Given the description of an element on the screen output the (x, y) to click on. 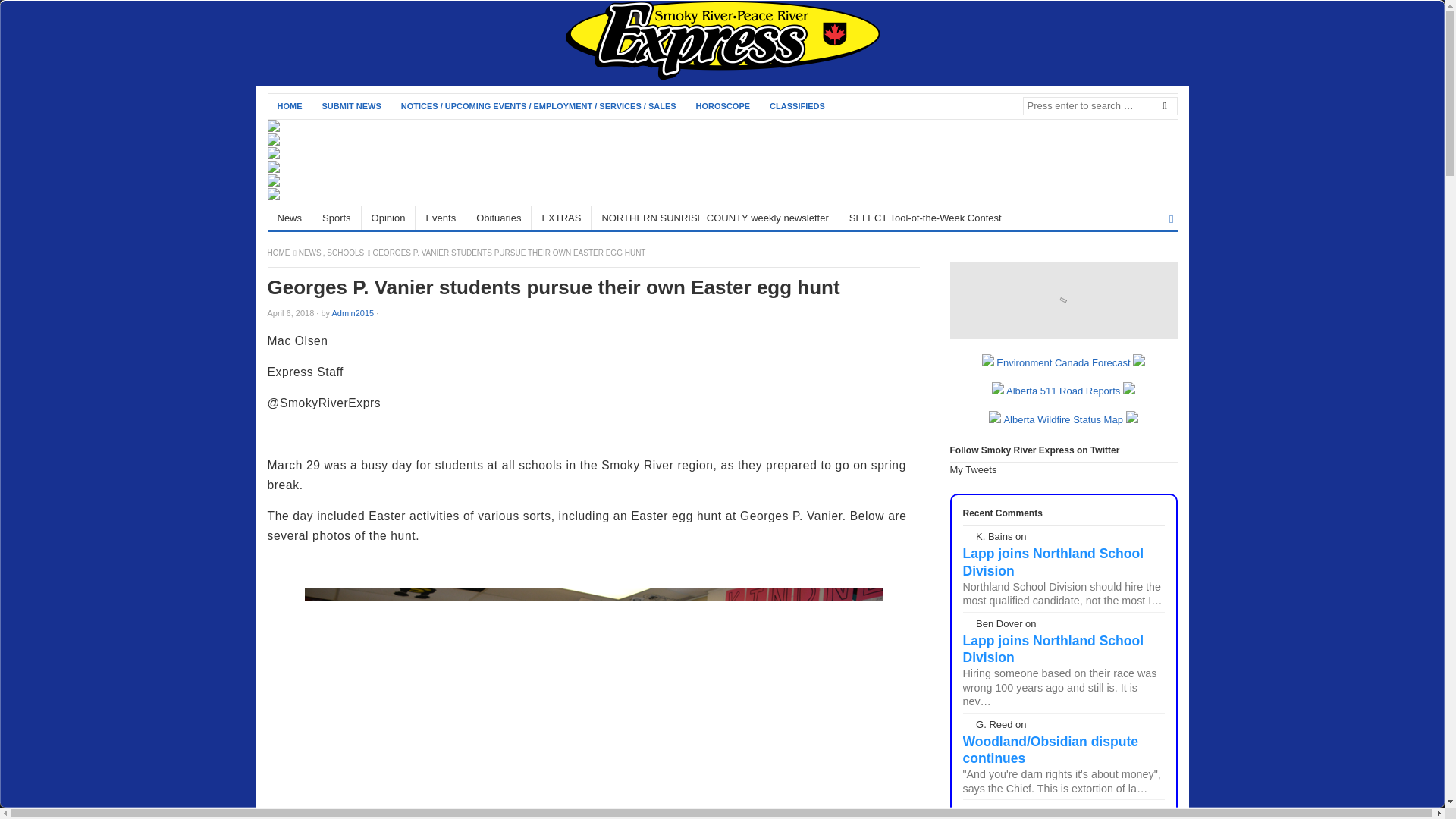
Search for: (1099, 106)
News (289, 218)
HOROSCOPE (722, 106)
CLASSIFIEDS (797, 106)
HOME (278, 252)
Admin2015 (352, 312)
HOME (288, 106)
Smoky River Peace River Express (278, 252)
NEWS (310, 252)
SUBMIT NEWS (352, 106)
Obituaries (498, 218)
Events (439, 218)
EXTRAS (561, 218)
Sports (337, 218)
SELECT Tool-of-the-Week Contest (925, 218)
